Given the description of an element on the screen output the (x, y) to click on. 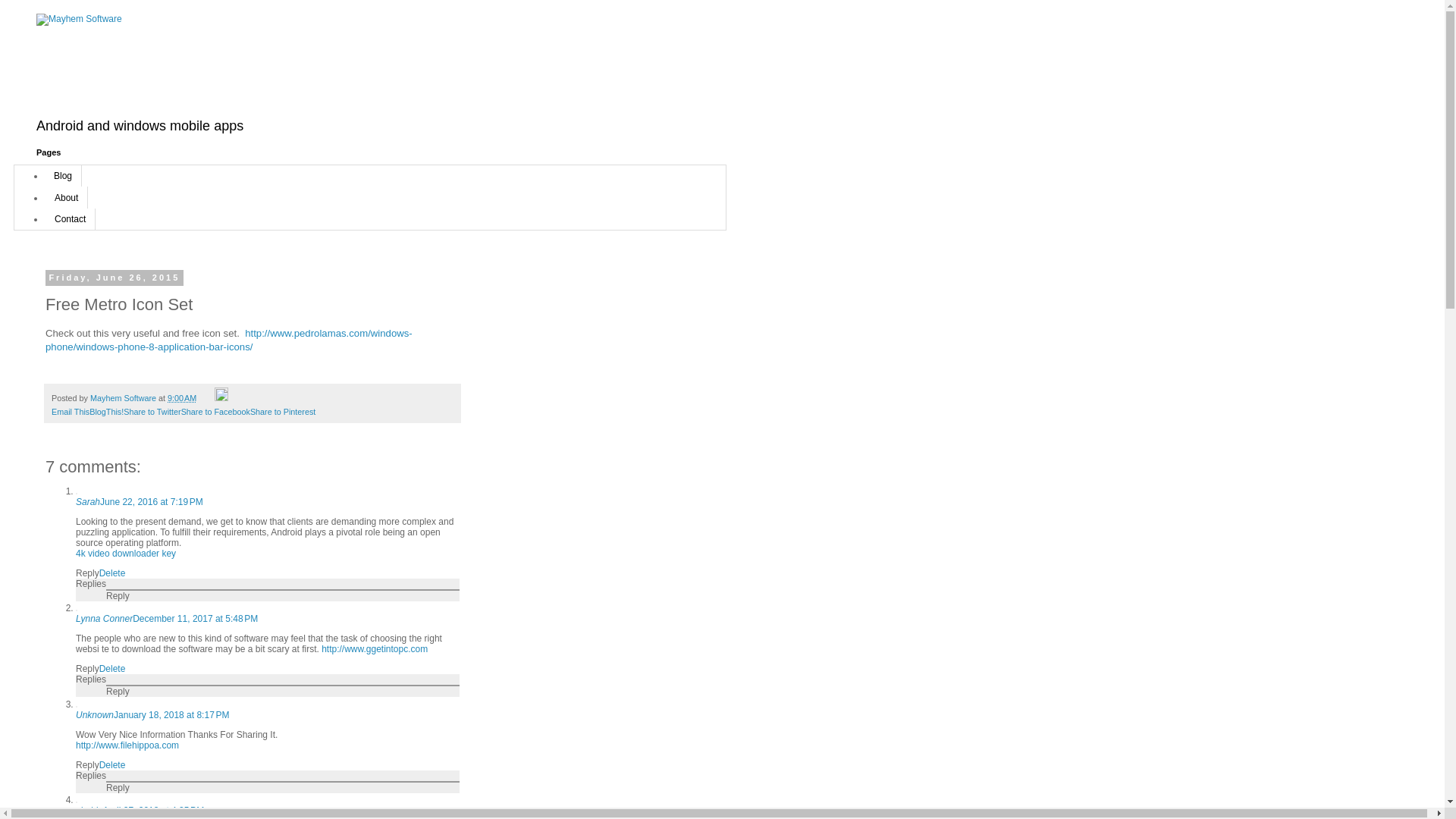
Share to Pinterest (282, 411)
BlogThis! (105, 411)
Replies (90, 775)
Contact (70, 219)
BlogThis! (105, 411)
About (66, 197)
Unknown (94, 715)
Share to Pinterest (282, 411)
Share to Facebook (215, 411)
shahin (88, 810)
Email This (69, 411)
permanent link (181, 397)
